Given the description of an element on the screen output the (x, y) to click on. 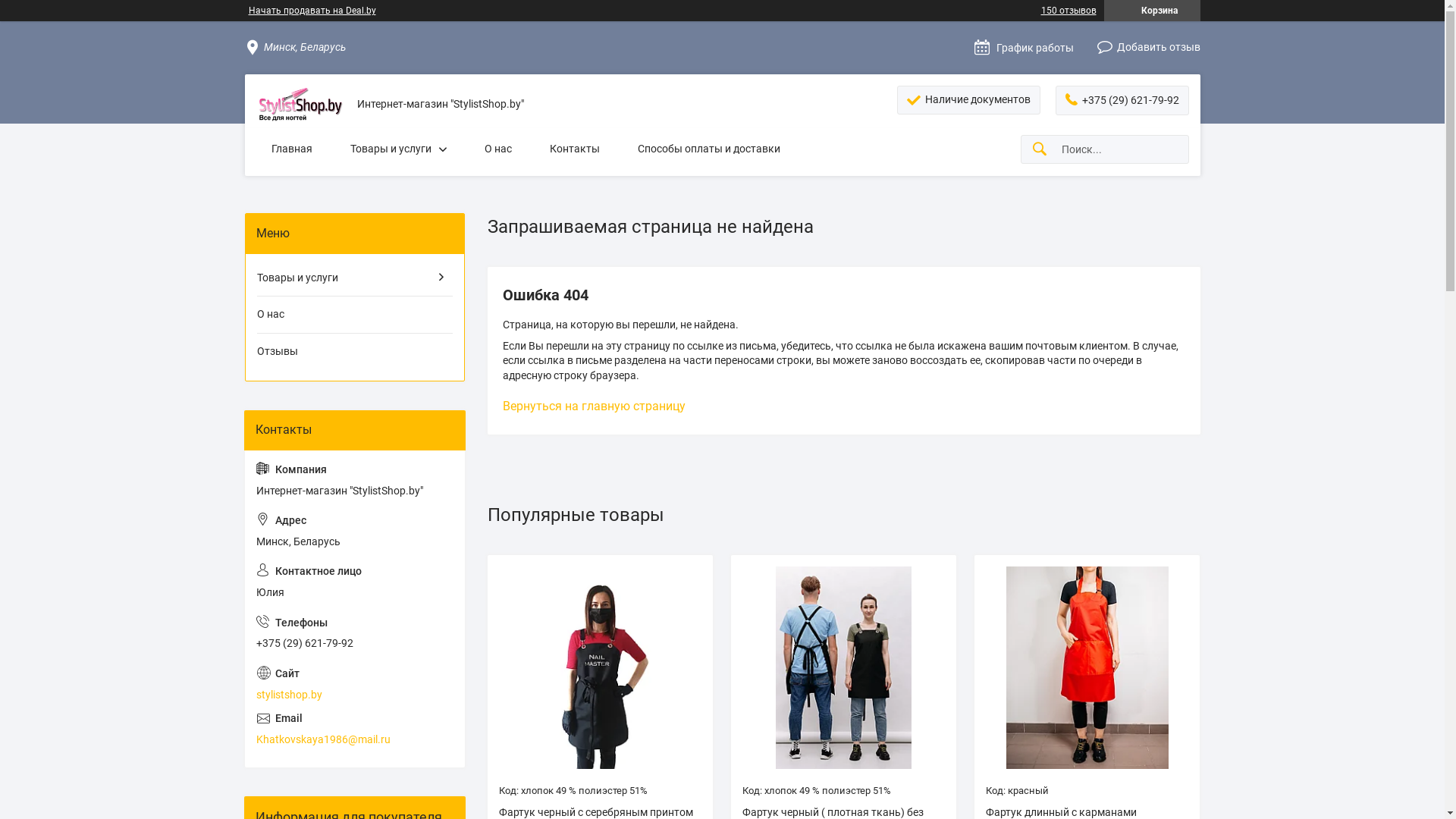
stylistshop.by Element type: text (354, 683)
Khatkovskaya1986@mail.ru Element type: text (354, 728)
